Given the description of an element on the screen output the (x, y) to click on. 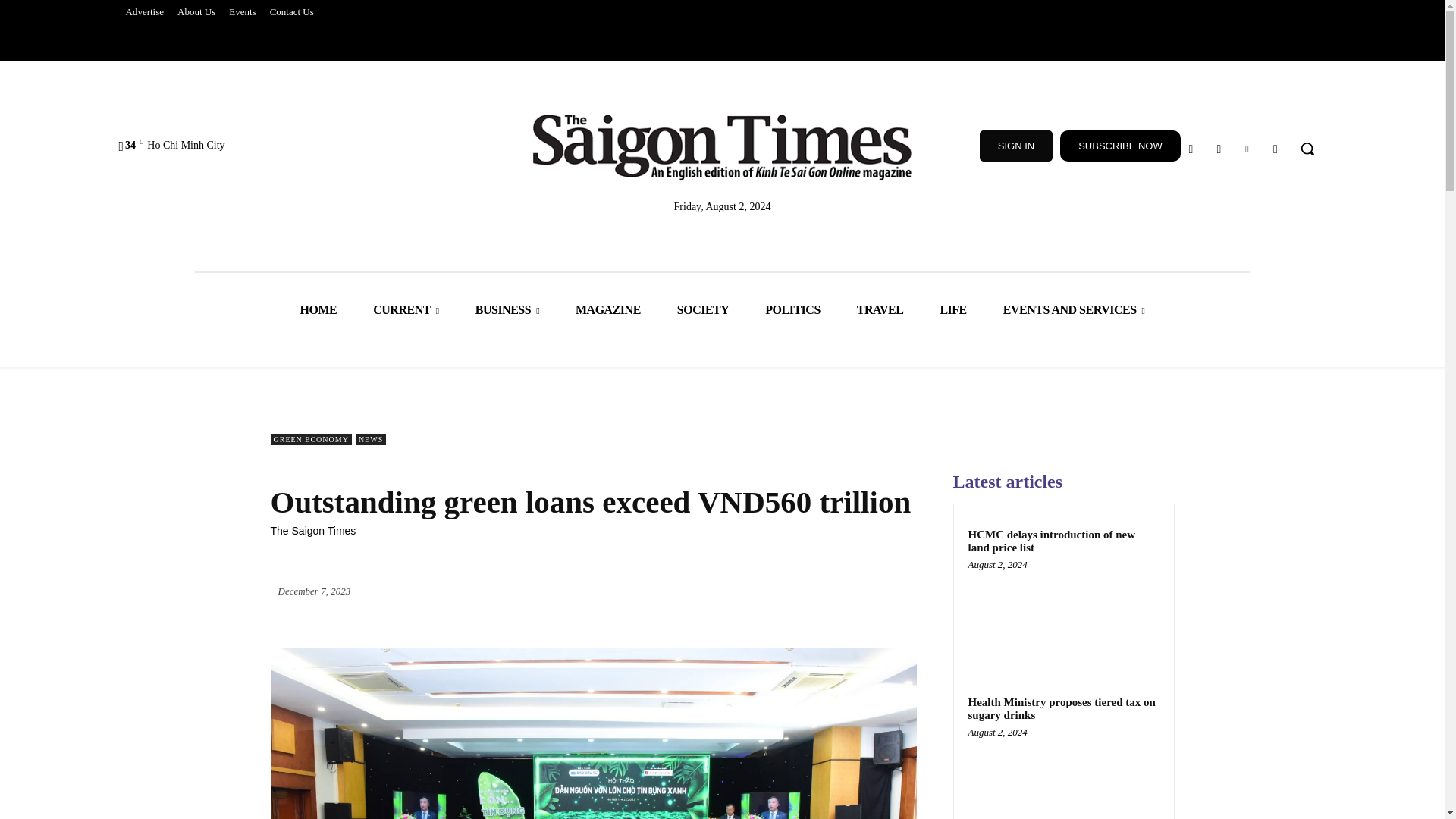
SIGN IN (1015, 145)
Instagram (1218, 148)
Linkedin (1246, 148)
Events (242, 12)
subscribe now (1119, 145)
Twitter (1275, 148)
sign in (1015, 145)
Facebook (1190, 148)
About Us (196, 12)
Contact Us (291, 12)
Advertise (143, 12)
